Given the description of an element on the screen output the (x, y) to click on. 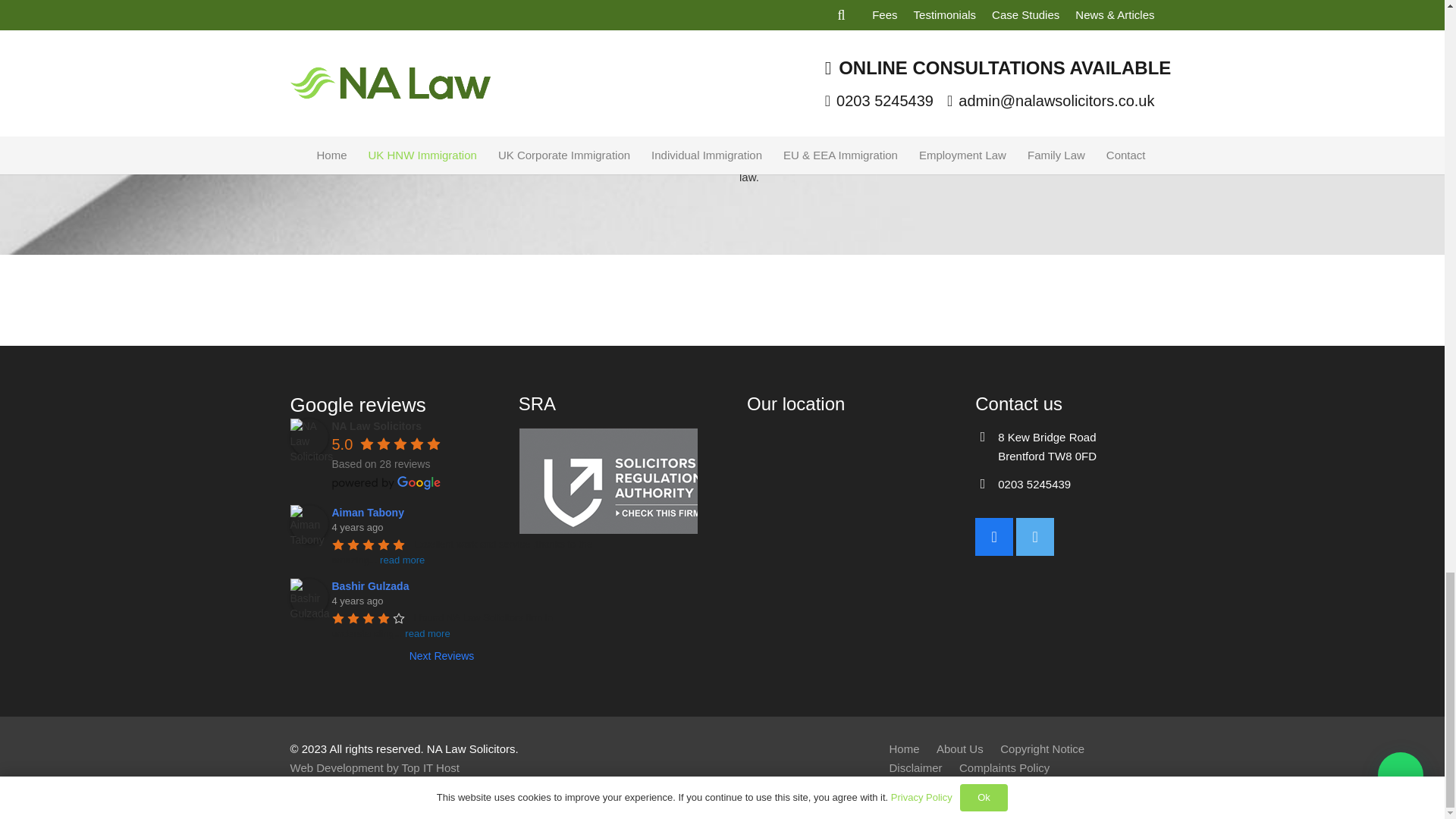
Bashir Gulzada (308, 597)
NA Law Solicitors (308, 437)
powered by Google (386, 482)
Aiman Tabony (308, 523)
